Given the description of an element on the screen output the (x, y) to click on. 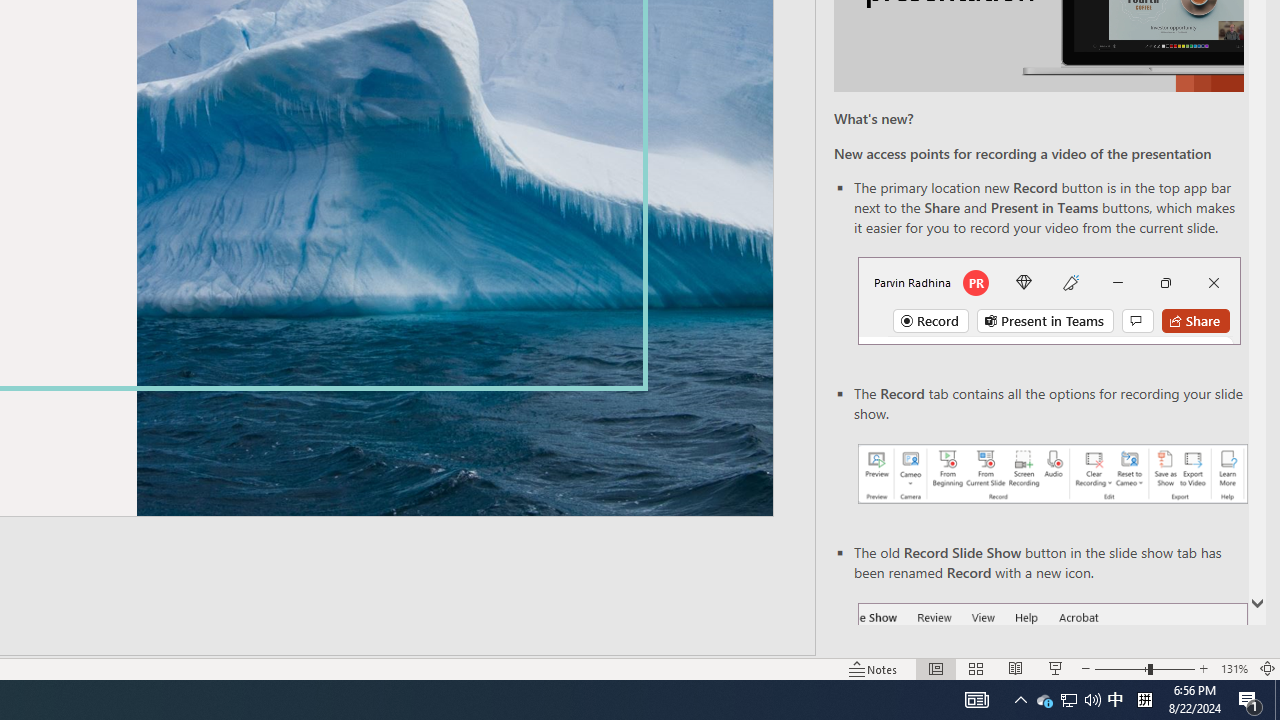
Record your presentations screenshot one (1052, 473)
Zoom 131% (1234, 668)
Record button in top bar (1049, 300)
